Given the description of an element on the screen output the (x, y) to click on. 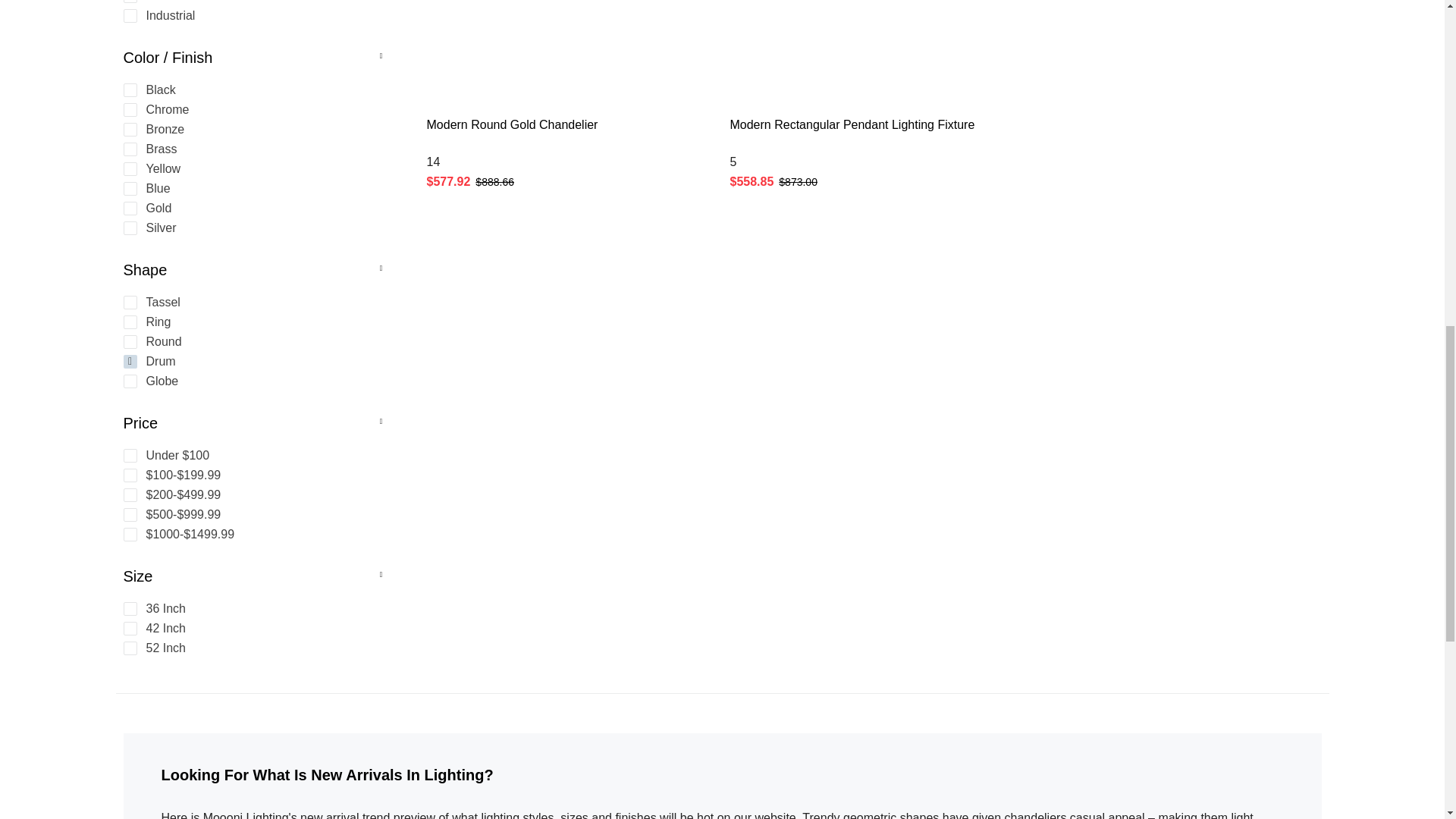
Show products matching tag industrial (249, 15)
Show products matching tag scandinavian (249, 1)
Show products matching tag black (249, 90)
